Given the description of an element on the screen output the (x, y) to click on. 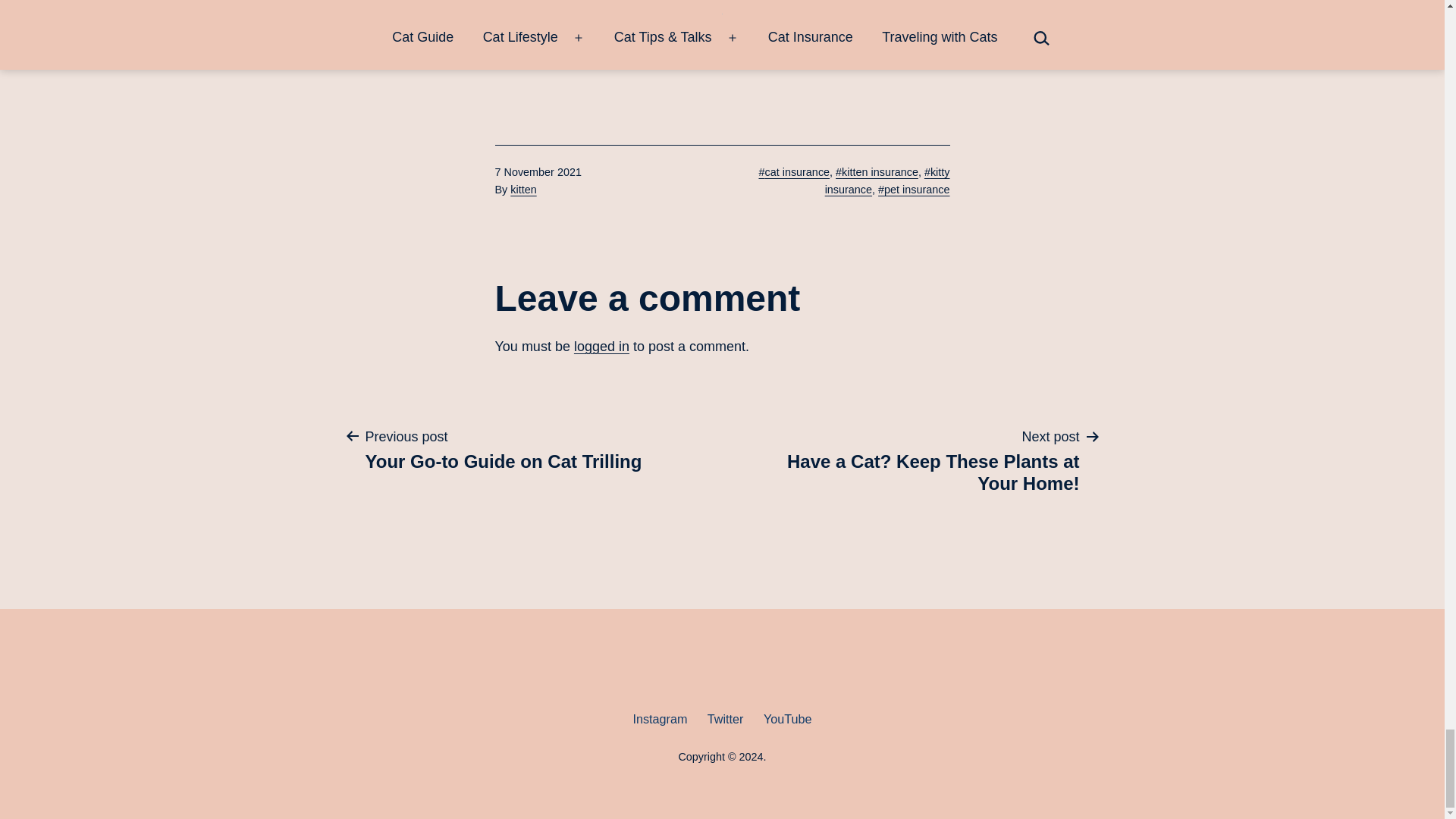
Instagram (502, 449)
logged in (660, 718)
kitty insurance (600, 346)
kitten (887, 180)
What Is Covered and Not Covered Under Cat Insurance? (914, 460)
Twitter (523, 189)
